Given the description of an element on the screen output the (x, y) to click on. 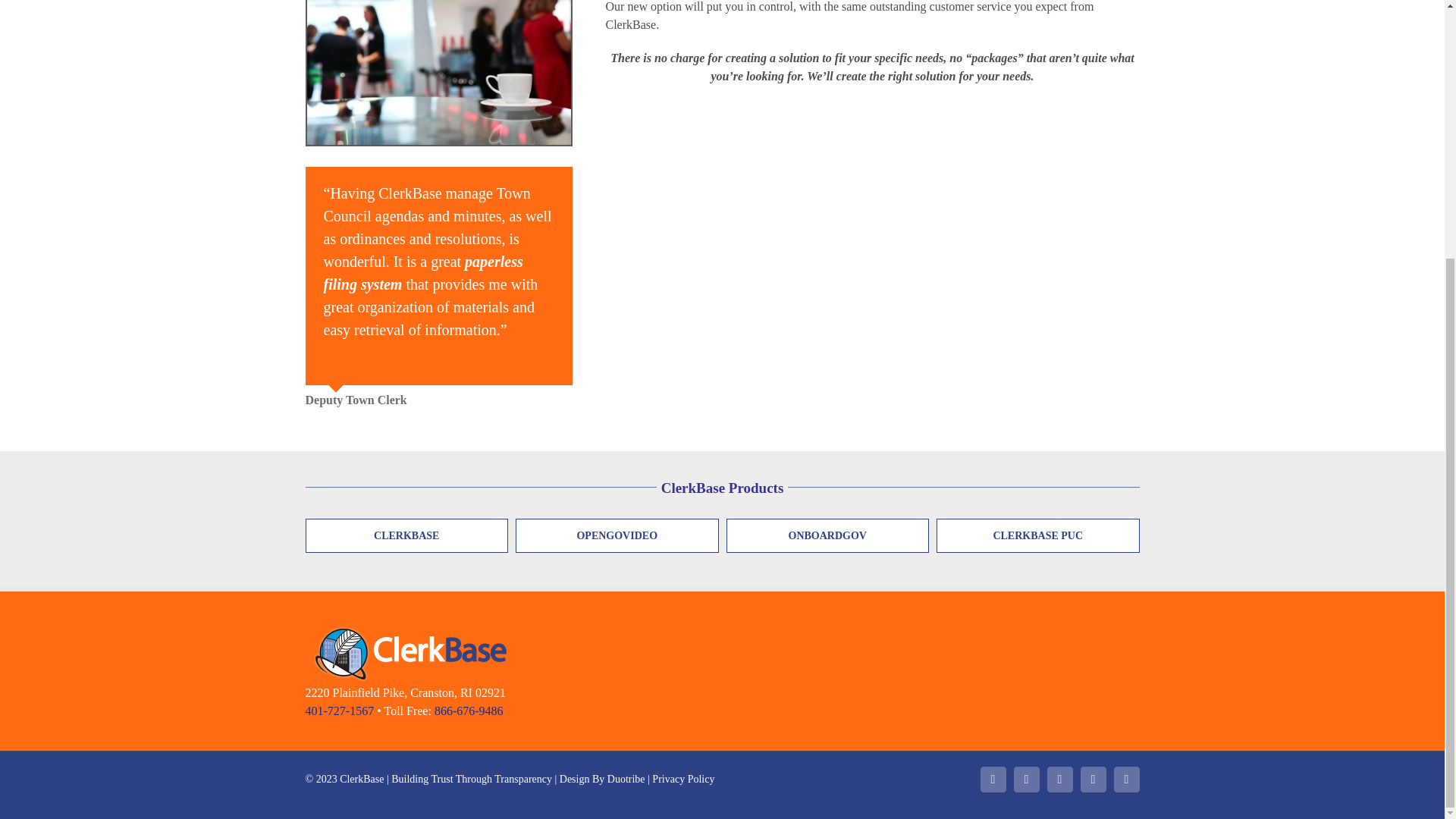
Instagram (1092, 779)
meeting01 (437, 72)
Pinterest (1058, 779)
Email (1125, 779)
LinkedIn (992, 779)
Facebook (1026, 779)
